Given the description of an element on the screen output the (x, y) to click on. 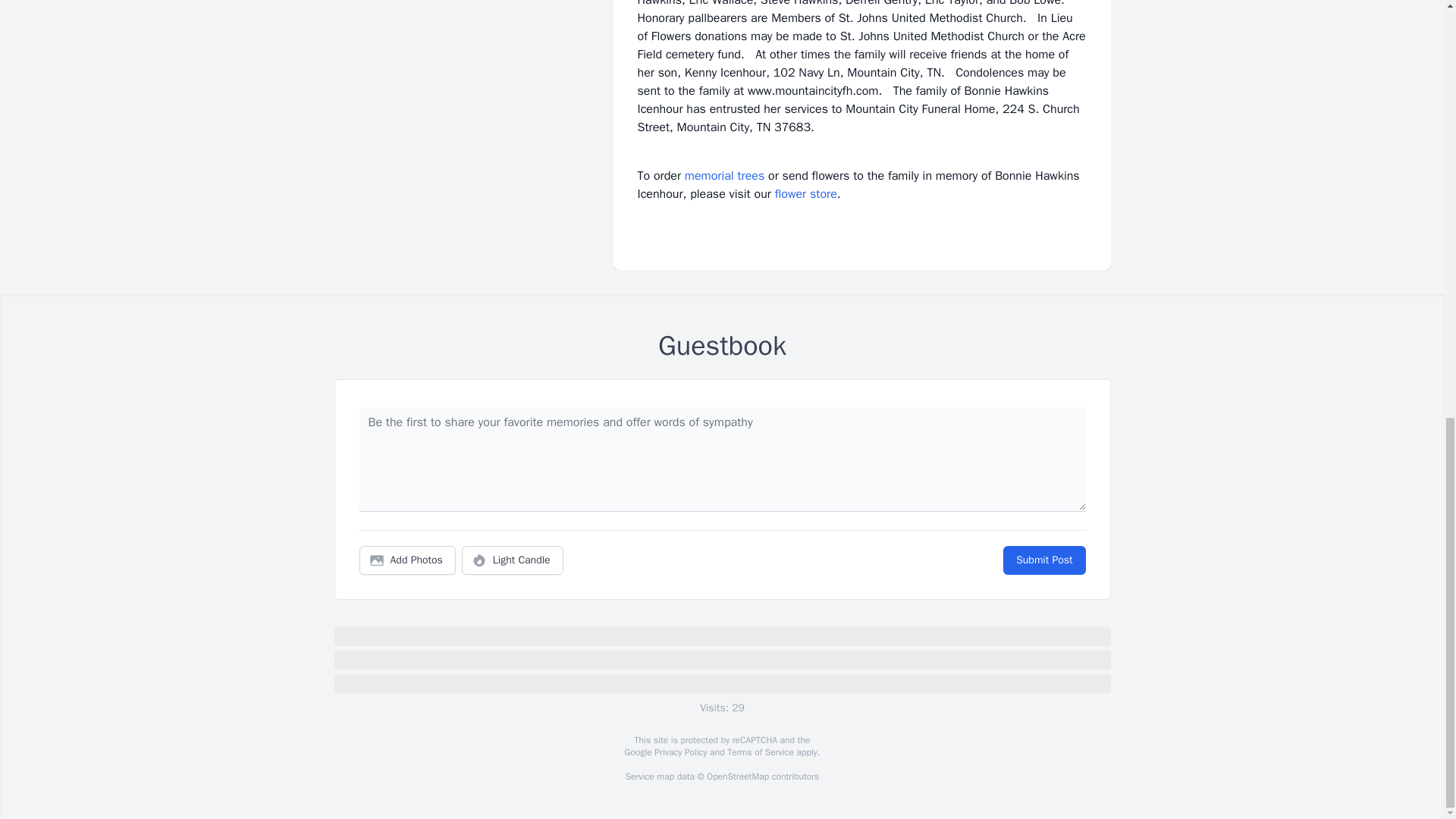
Submit Post (1043, 560)
Add Photos (407, 560)
memorial trees (724, 175)
flower store (805, 193)
Privacy Policy (679, 752)
Light Candle (512, 560)
Terms of Service (759, 752)
OpenStreetMap (737, 776)
